Given the description of an element on the screen output the (x, y) to click on. 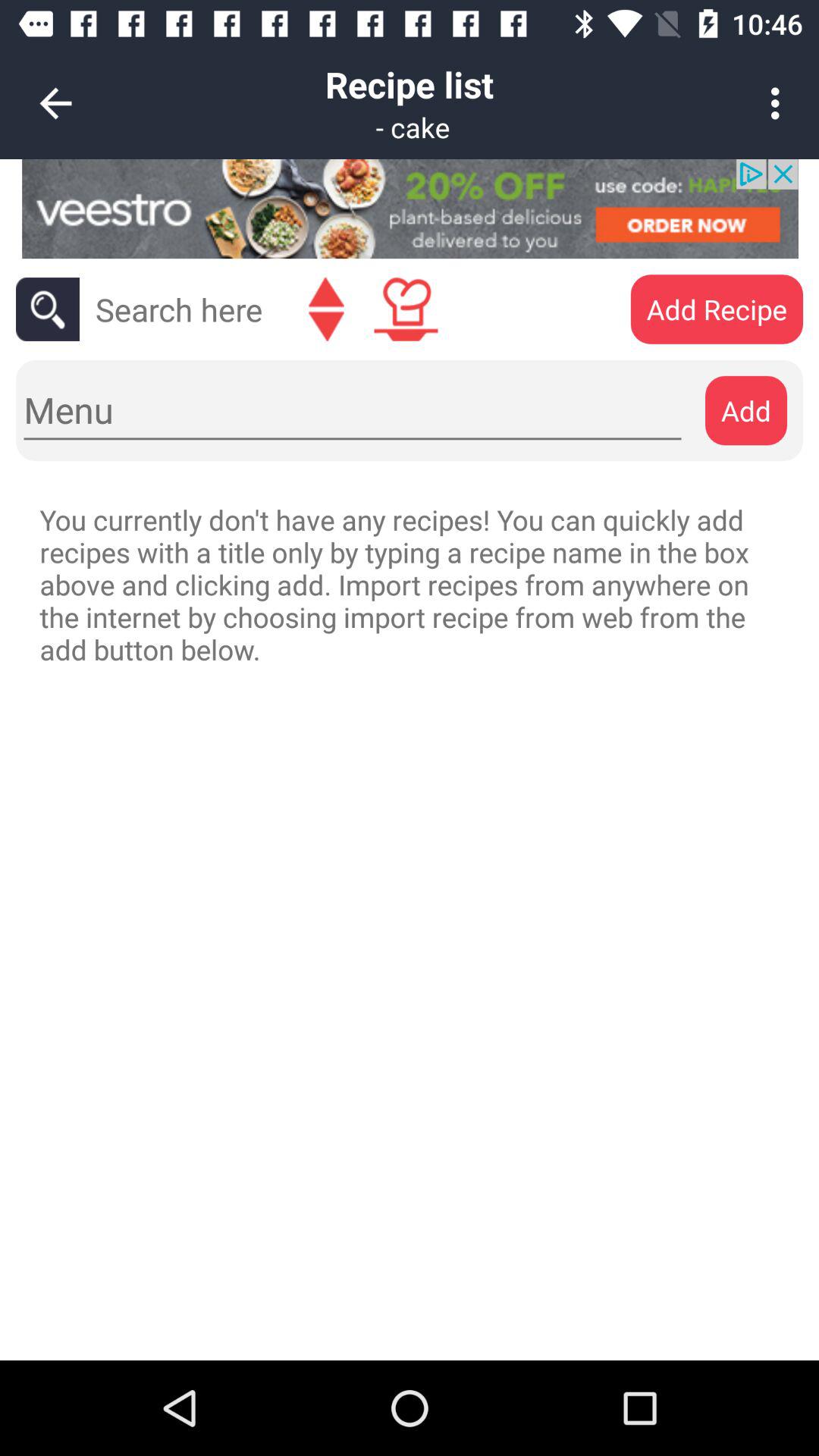
go to advertisement (409, 208)
